Given the description of an element on the screen output the (x, y) to click on. 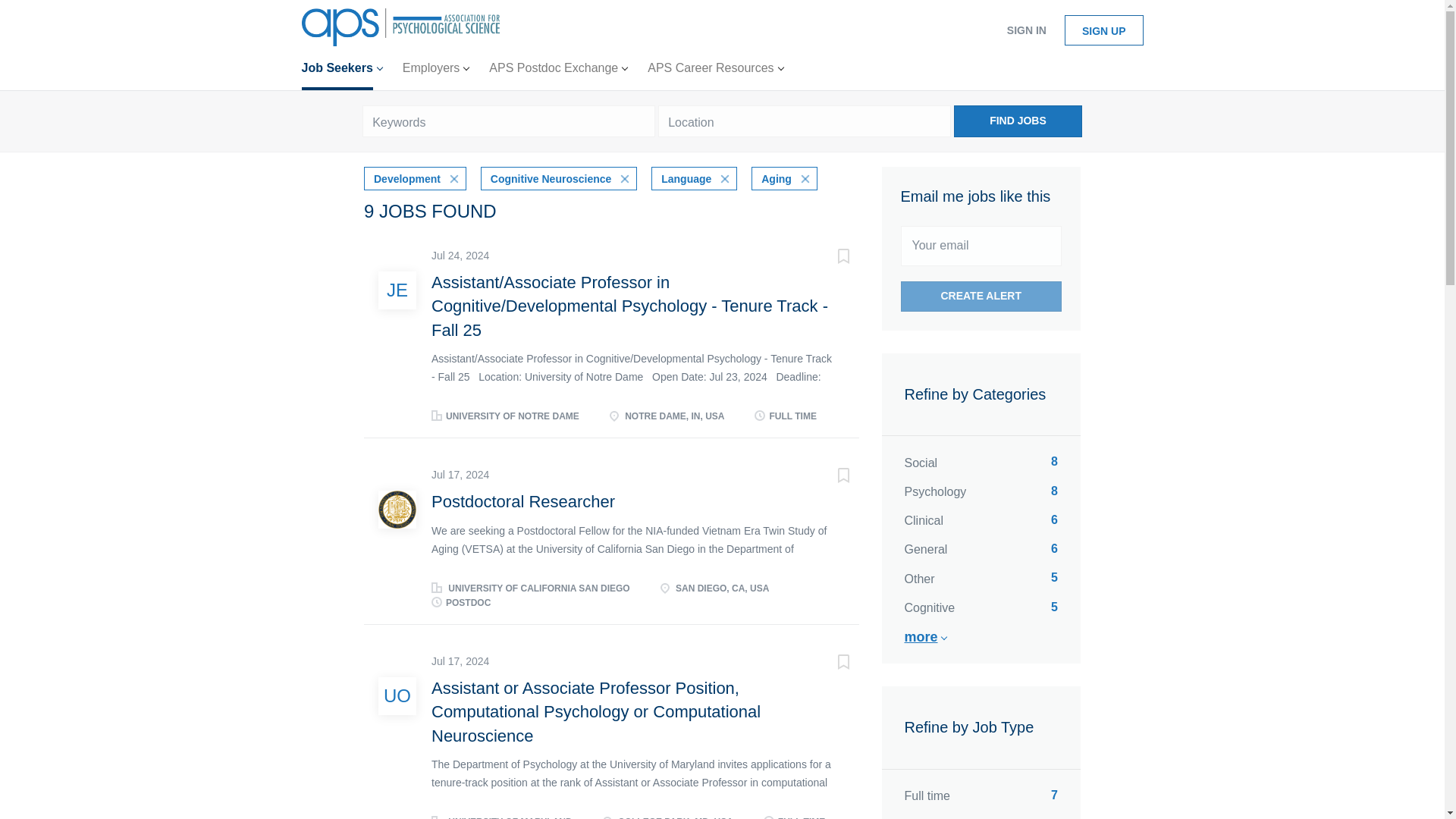
Save (828, 258)
JobElephant (397, 290)
Job Seekers (342, 71)
University of Maryland (397, 695)
Save (828, 477)
Employers (435, 71)
Save (828, 664)
APS Postdoc Exchange (557, 71)
Create alert (981, 296)
APS Career Resources (715, 71)
SIGN UP (1103, 30)
SIGN IN (1026, 30)
